Given the description of an element on the screen output the (x, y) to click on. 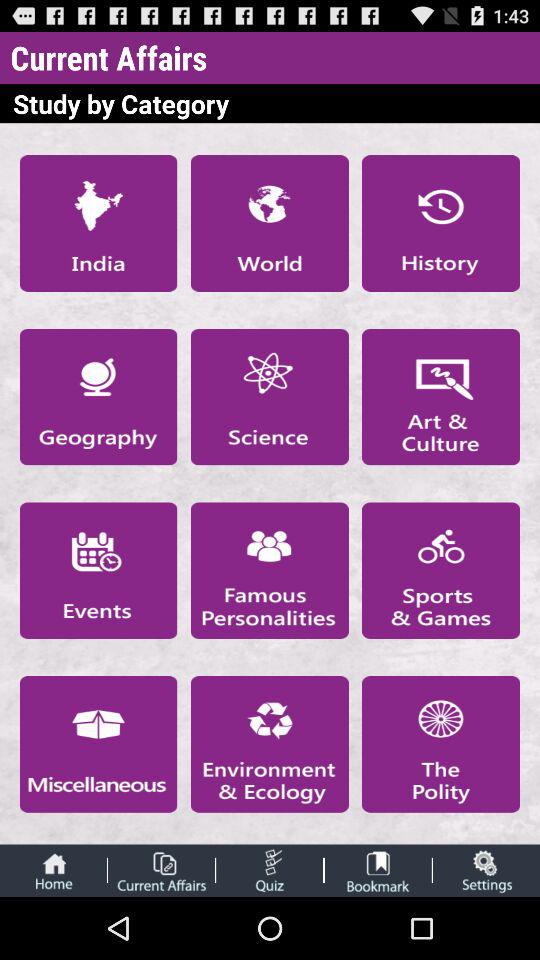
selection of the category environment and ecology (269, 744)
